Given the description of an element on the screen output the (x, y) to click on. 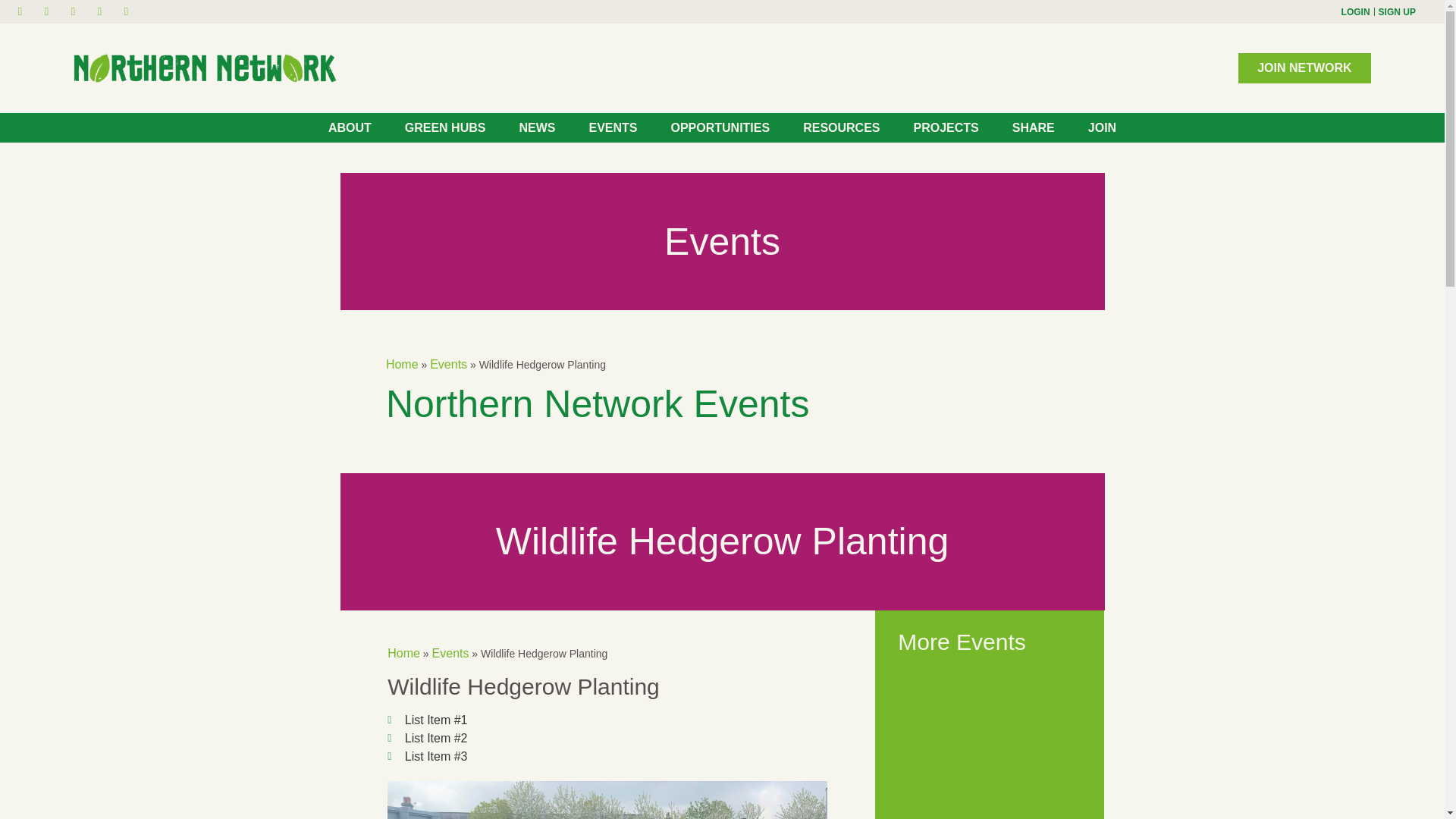
OPPORTUNITIES (719, 127)
NEWS (537, 127)
GREEN HUBS (445, 127)
JOIN (1101, 127)
JOIN NETWORK (1304, 67)
SHARE (1033, 127)
ABOUT (349, 127)
PROJECTS (945, 127)
RESOURCES (841, 127)
LOGIN (1355, 11)
